Given the description of an element on the screen output the (x, y) to click on. 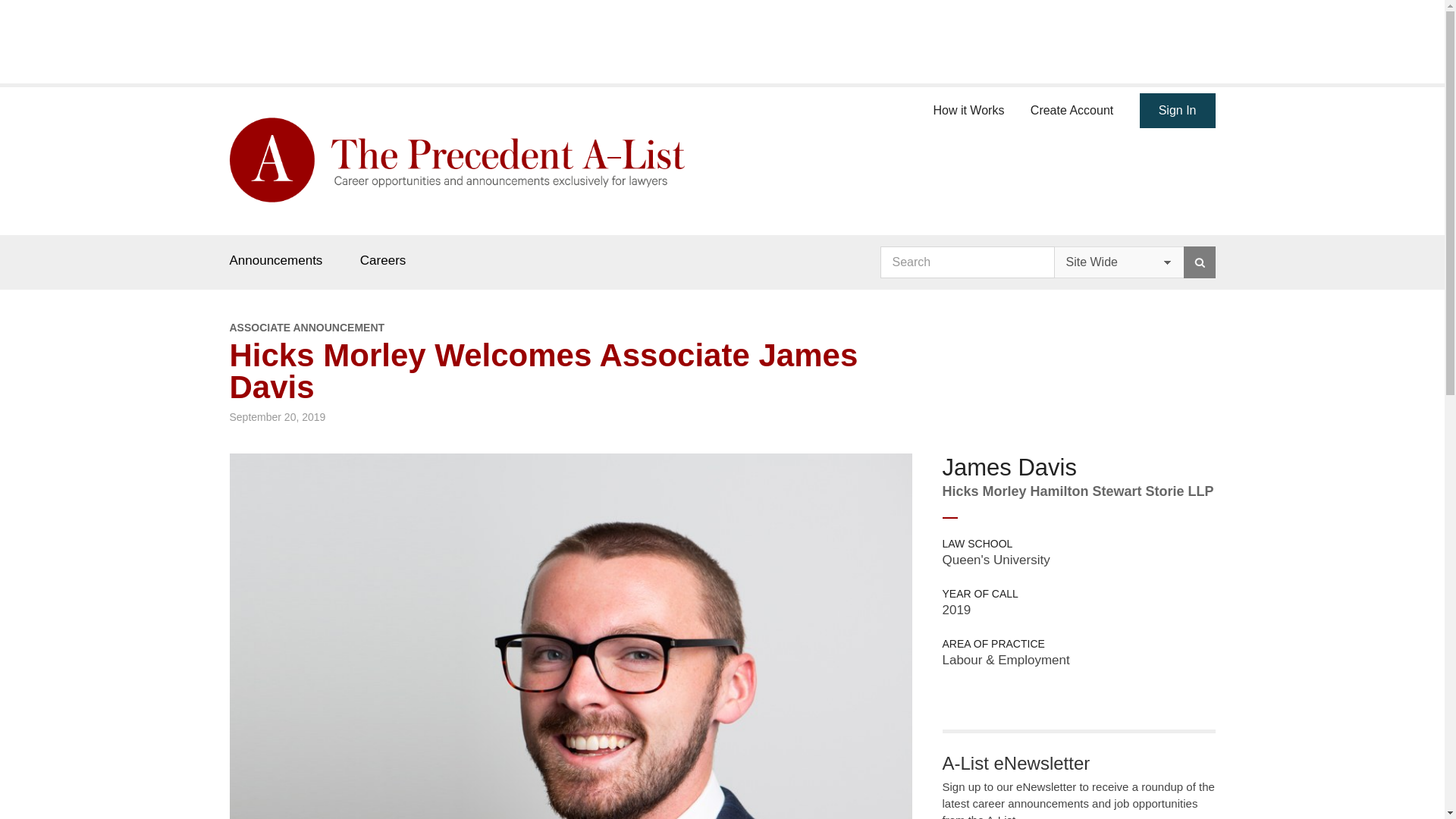
How it Works (968, 107)
Careers (382, 260)
Sign In (1177, 110)
Create Account (1071, 107)
ASSOCIATE ANNOUNCEMENT (569, 327)
Announcements (274, 260)
